Given the description of an element on the screen output the (x, y) to click on. 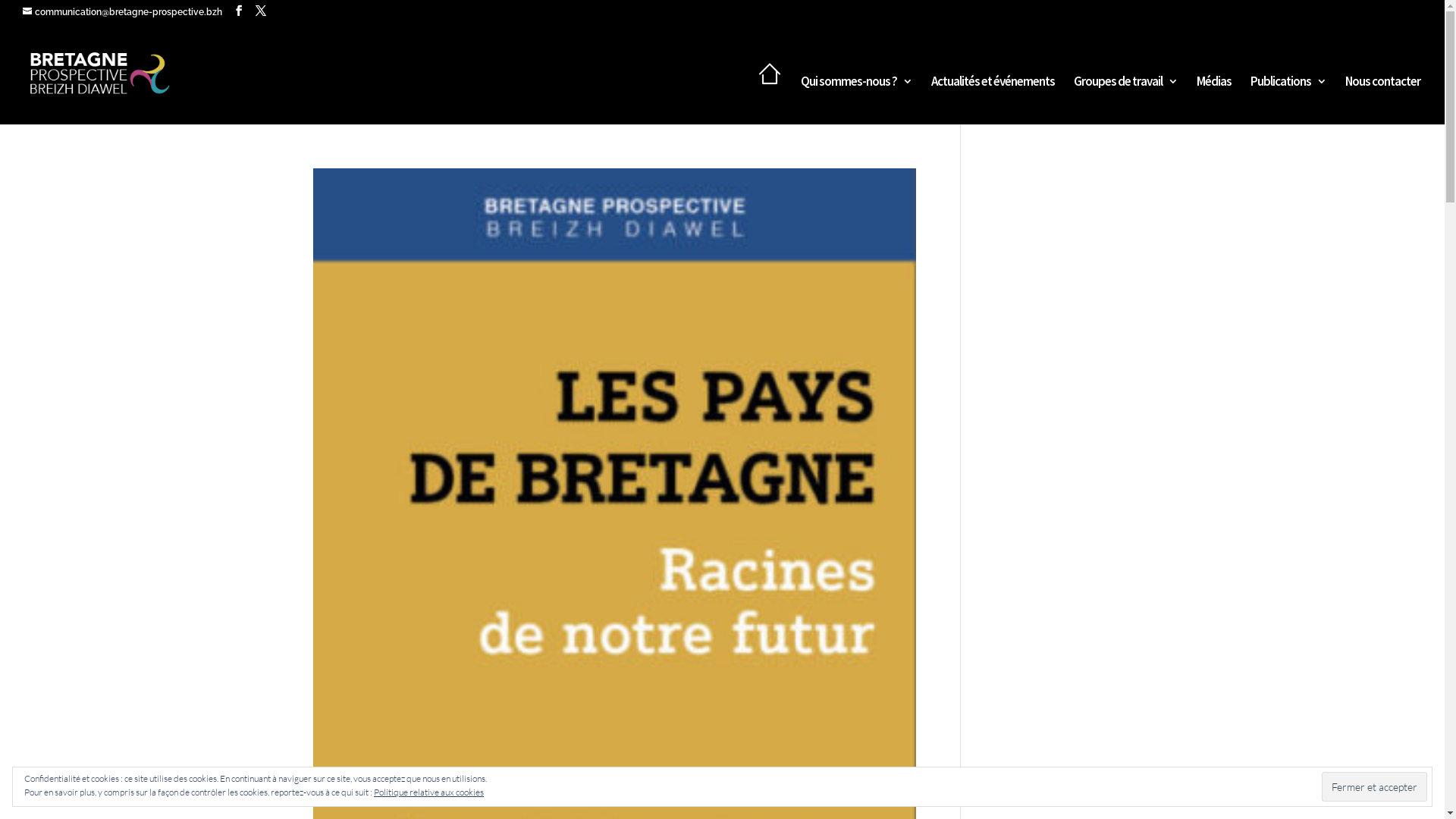
Publications Element type: text (1288, 99)
Qui sommes-nous ? Element type: text (856, 99)
Politique relative aux cookies Element type: text (428, 791)
Groupes de travail Element type: text (1125, 99)
Nous contacter Element type: text (1382, 99)
communication@bretagne-prospective.bzh Element type: text (122, 11)
Fermer et accepter Element type: text (1374, 786)
